Given the description of an element on the screen output the (x, y) to click on. 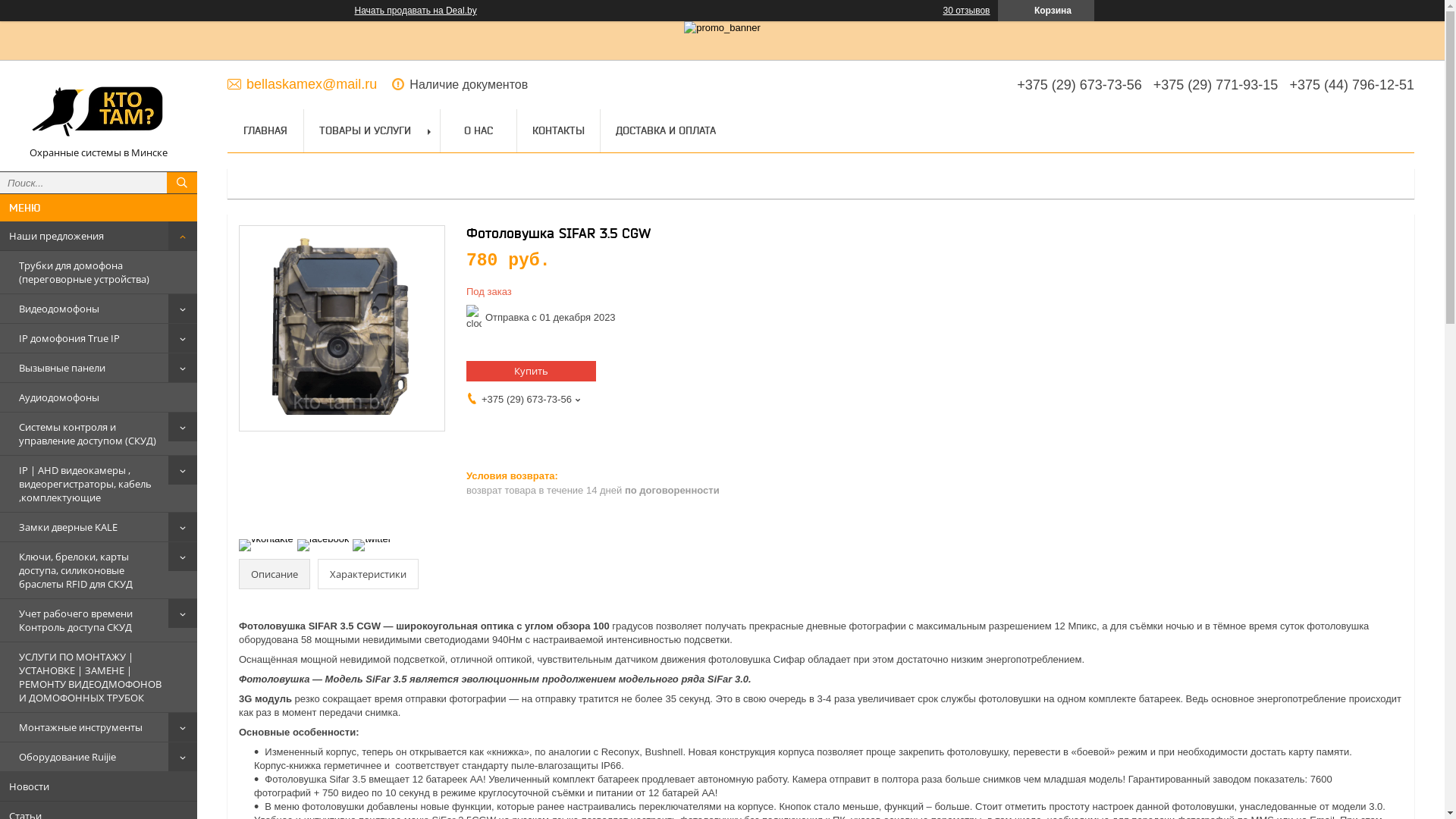
bellaskamex@mail.ru Element type: text (301, 83)
facebook Element type: hover (323, 538)
twitter Element type: hover (371, 538)
